Given the description of an element on the screen output the (x, y) to click on. 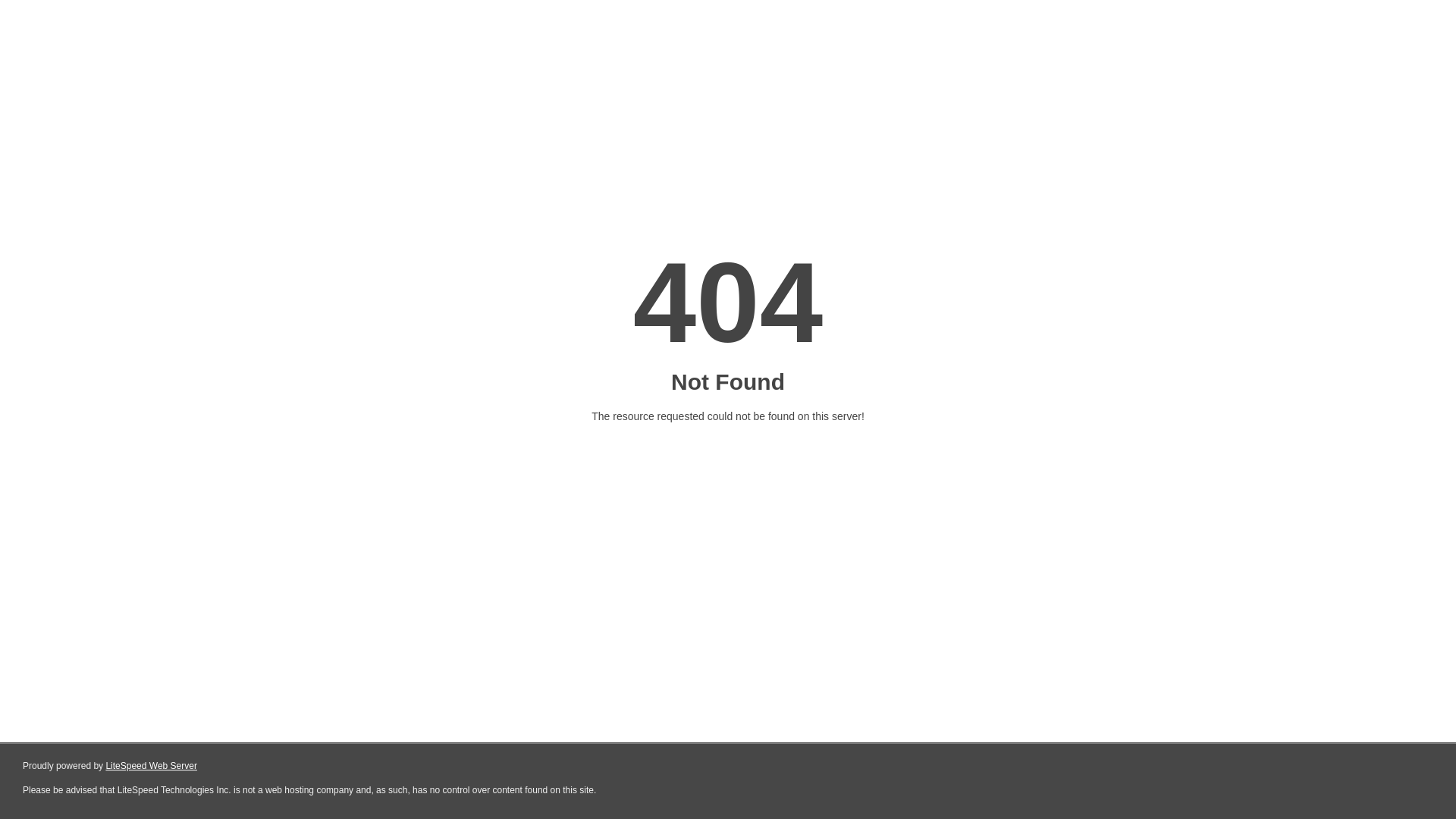
LiteSpeed Web Server Element type: text (151, 765)
